Given the description of an element on the screen output the (x, y) to click on. 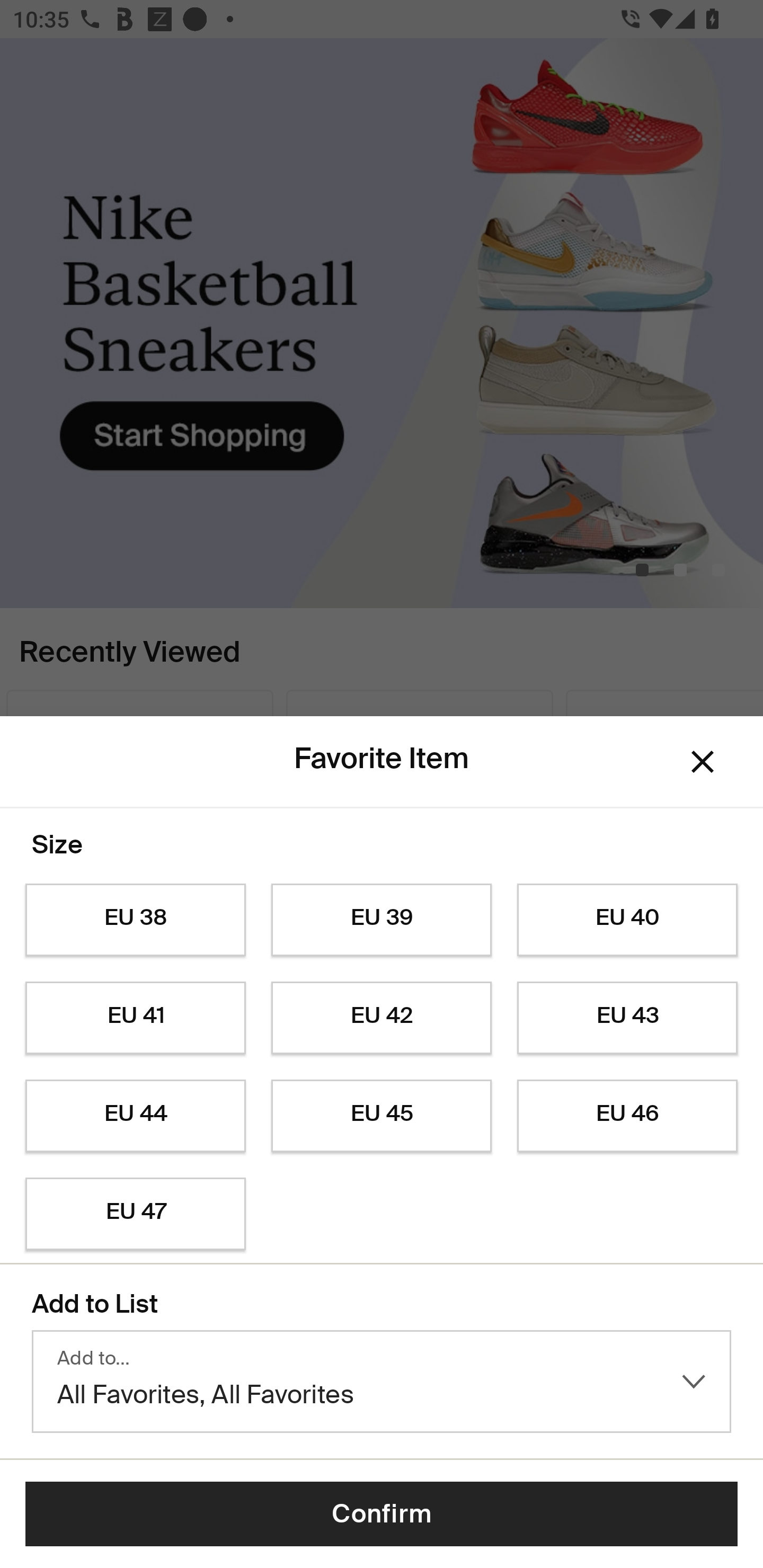
Dismiss (702, 760)
EU 38 (135, 919)
EU 39 (381, 919)
EU 40 (627, 919)
EU 41 (135, 1018)
EU 42 (381, 1018)
EU 43 (627, 1018)
EU 44 (135, 1116)
EU 45 (381, 1116)
EU 46 (627, 1116)
EU 47 (135, 1214)
Add to… All Favorites, All Favorites (381, 1381)
Confirm (381, 1513)
